Given the description of an element on the screen output the (x, y) to click on. 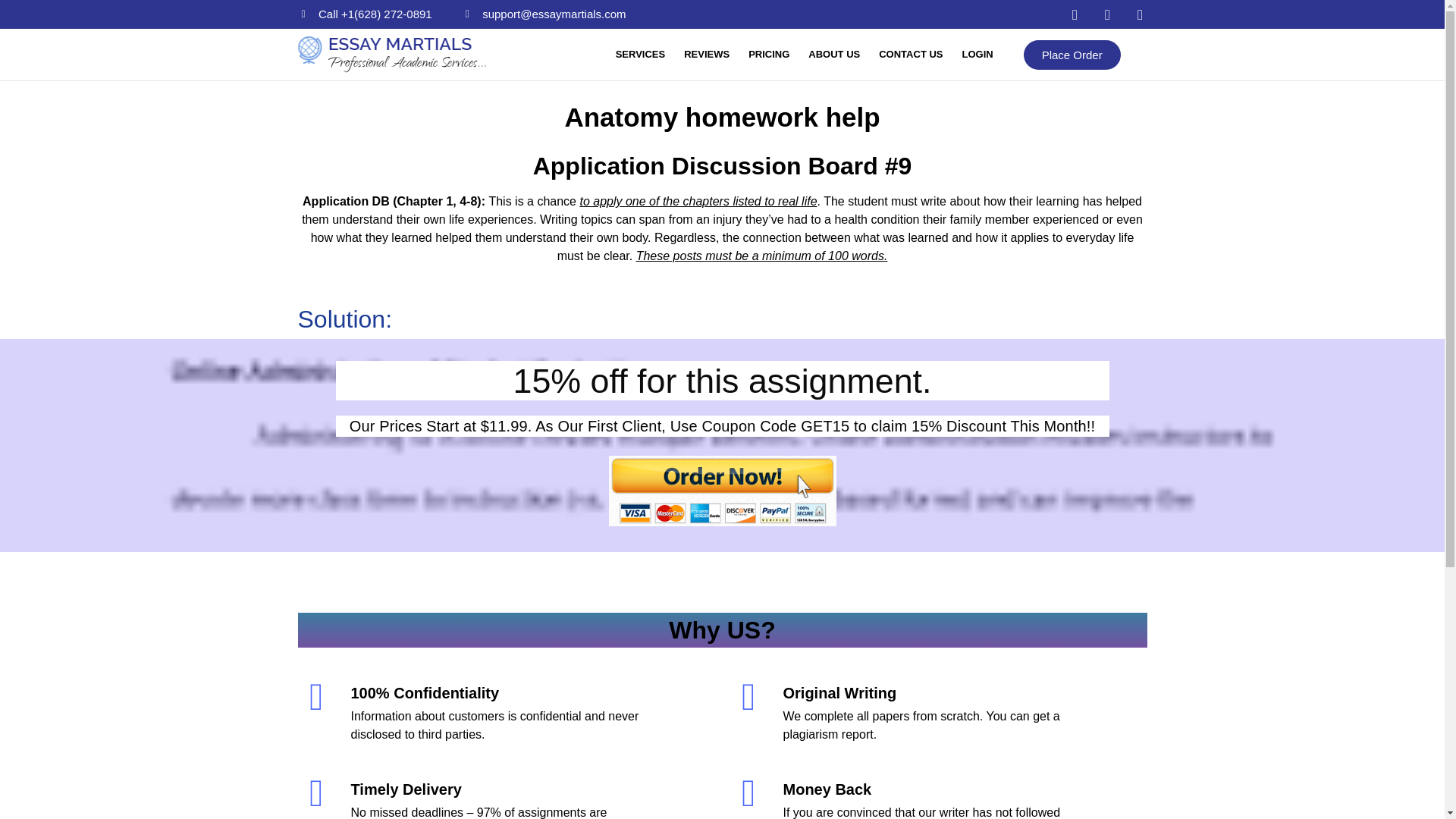
CONTACT US (910, 54)
PRICING (769, 54)
SERVICES (640, 54)
ABOUT US (834, 54)
REVIEWS (706, 54)
LOGIN (976, 54)
Place Order (1072, 53)
